Given the description of an element on the screen output the (x, y) to click on. 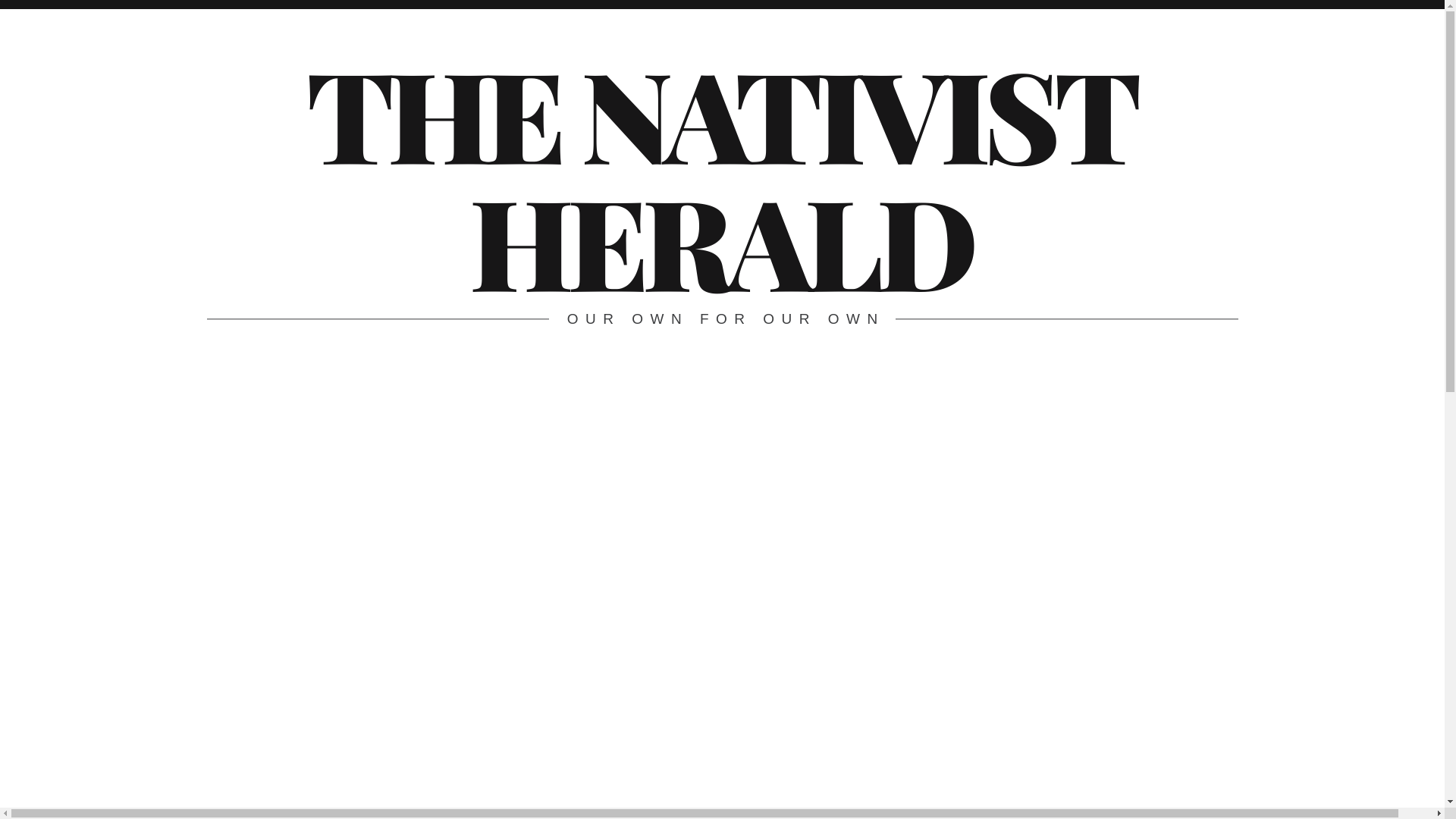
THE NATIVIST HERALD Element type: text (720, 175)
